Given the description of an element on the screen output the (x, y) to click on. 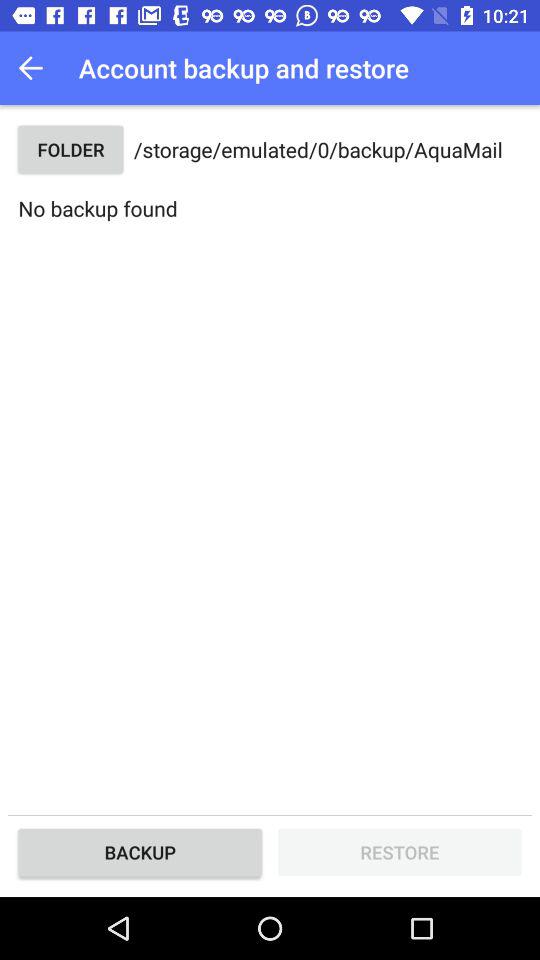
click the item next to storage emulated 0 item (70, 149)
